Given the description of an element on the screen output the (x, y) to click on. 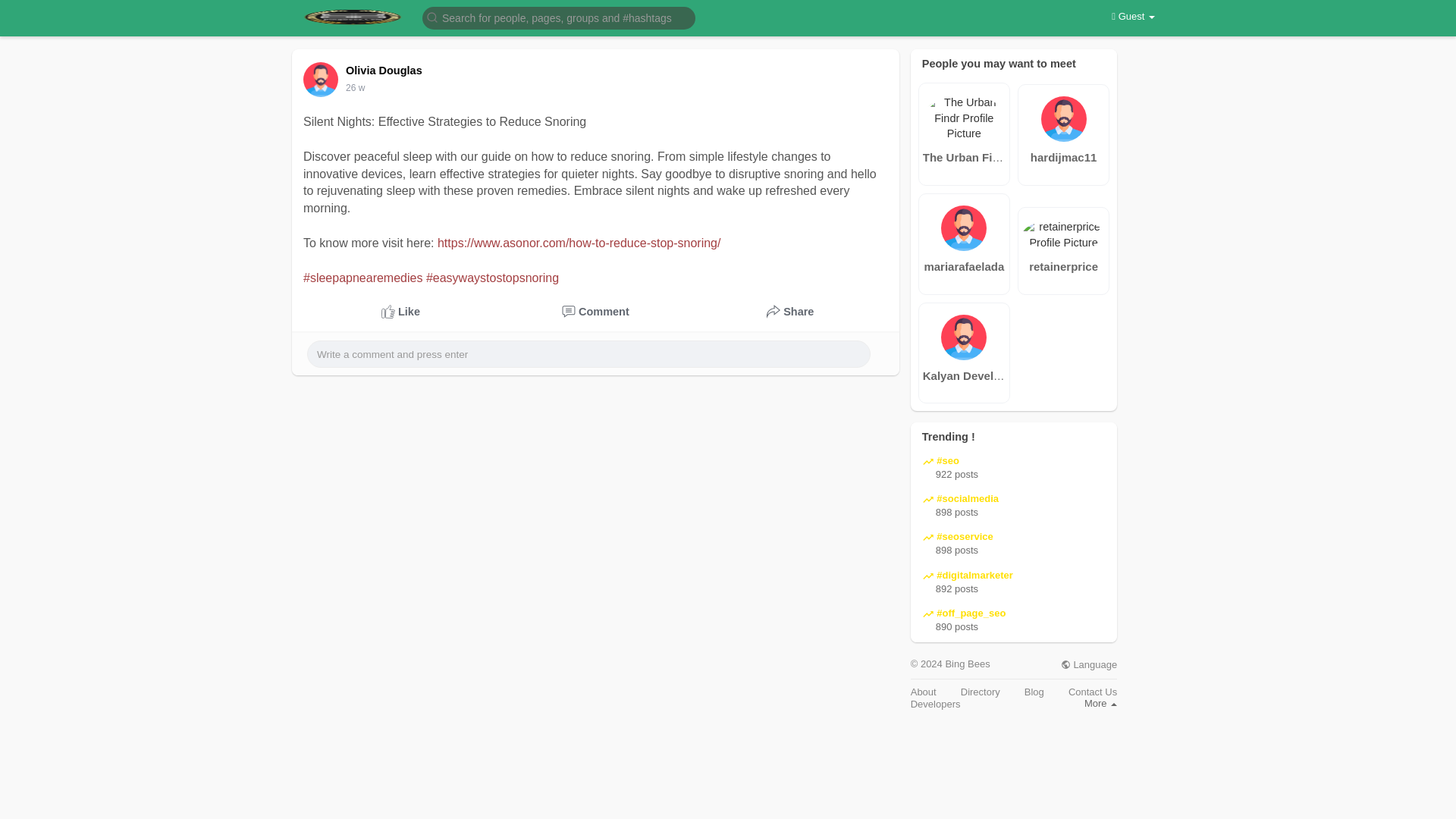
Contact Us (1092, 691)
retainerprice (1063, 266)
Share (790, 311)
Guest (1132, 17)
About (923, 691)
Directory (980, 691)
Comments (595, 311)
Blog (1034, 691)
Kalyan Developers (964, 375)
mariarafaelada (964, 266)
